Given the description of an element on the screen output the (x, y) to click on. 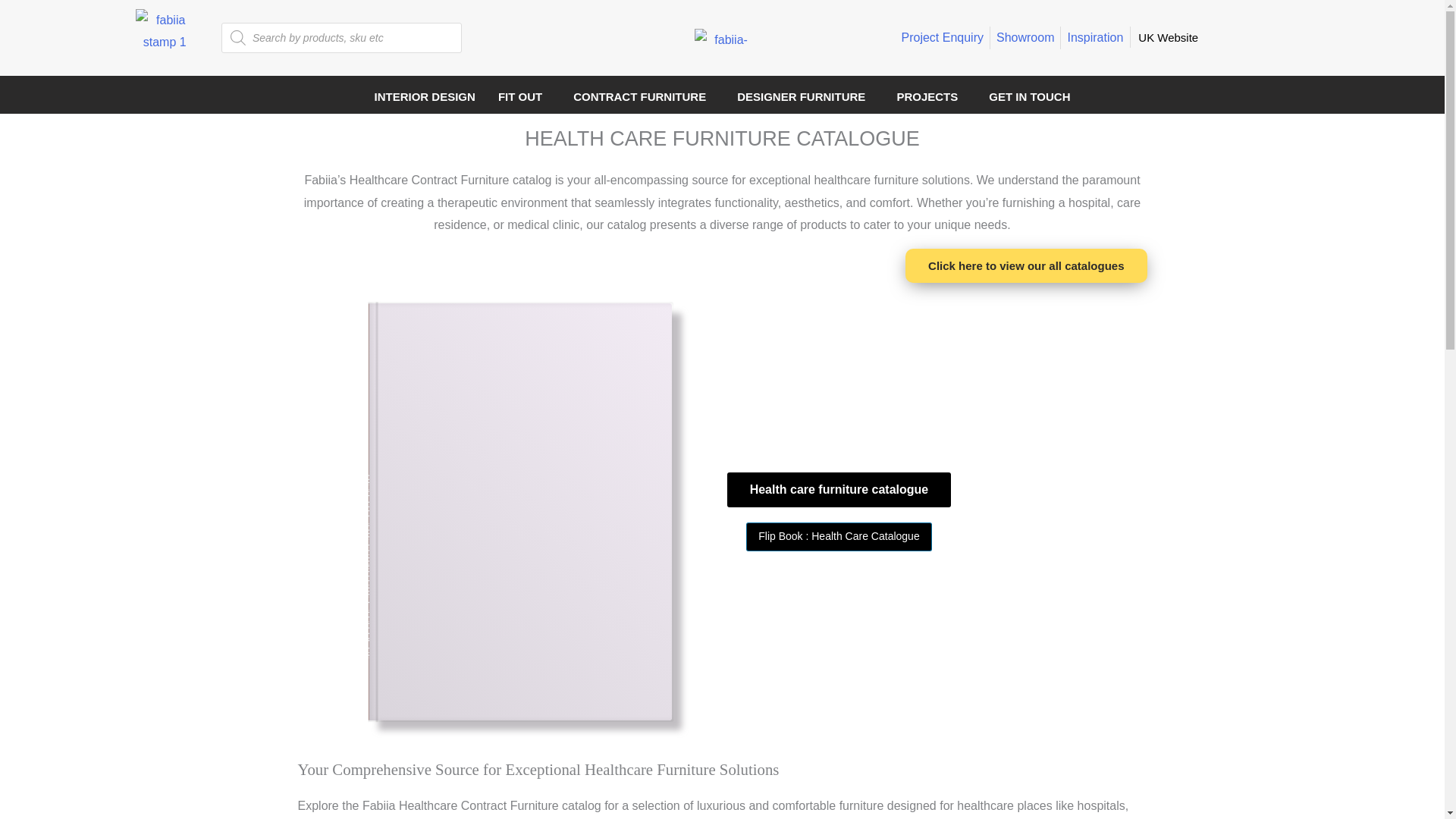
Project Enquiry (942, 37)
fabiia-logo-black (724, 38)
fabiia stamp 1 (164, 38)
INTERIOR DESIGN (424, 96)
PROJECTS (930, 96)
Inspiration (1094, 37)
CONTRACT FURNITURE (643, 96)
FIT OUT (524, 96)
UK Website (1172, 37)
Showroom (1024, 37)
